Given the description of an element on the screen output the (x, y) to click on. 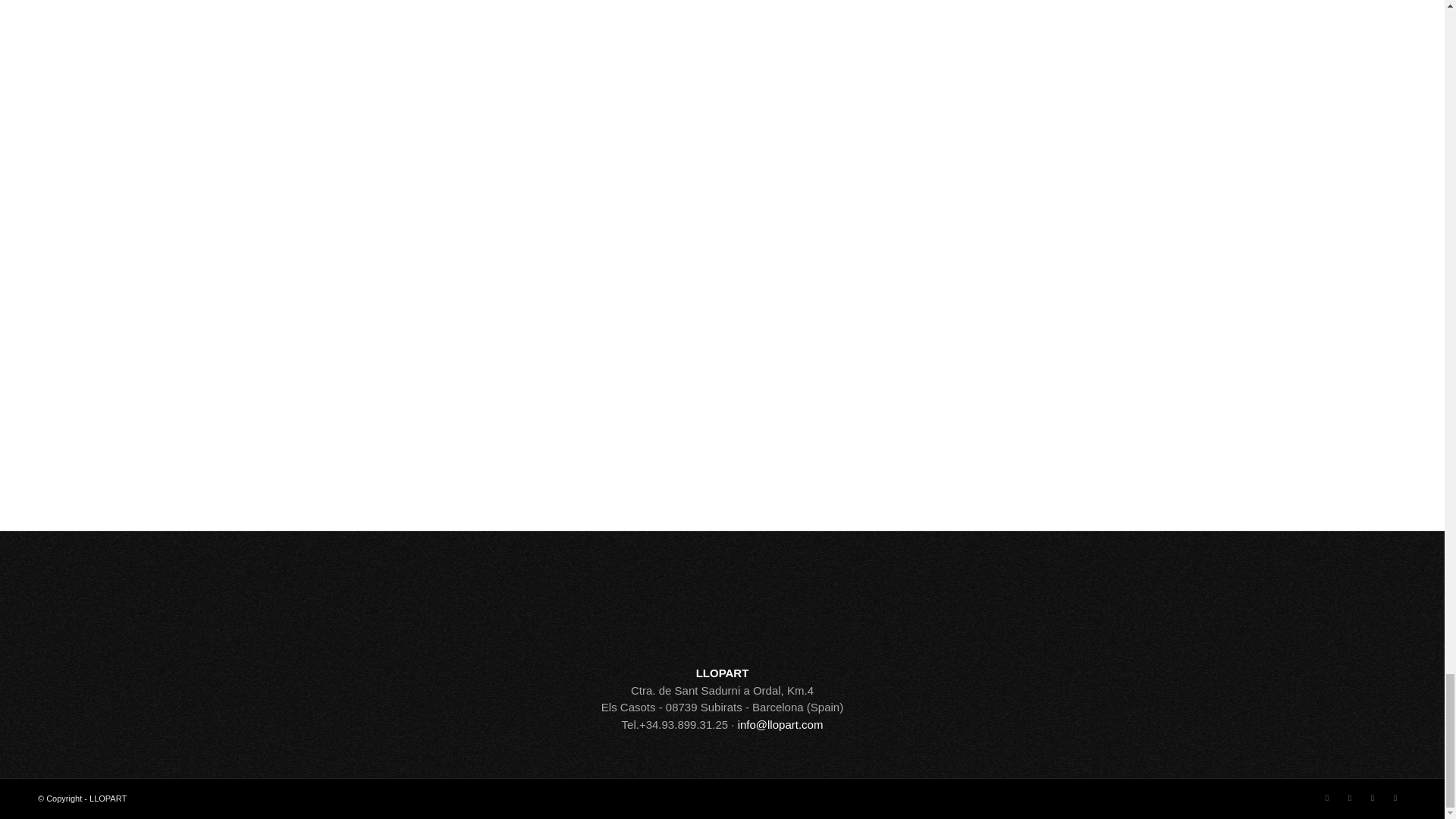
Facebook (1327, 797)
Instagram (1372, 797)
Mail (1395, 797)
Twitter (1349, 797)
